Given the description of an element on the screen output the (x, y) to click on. 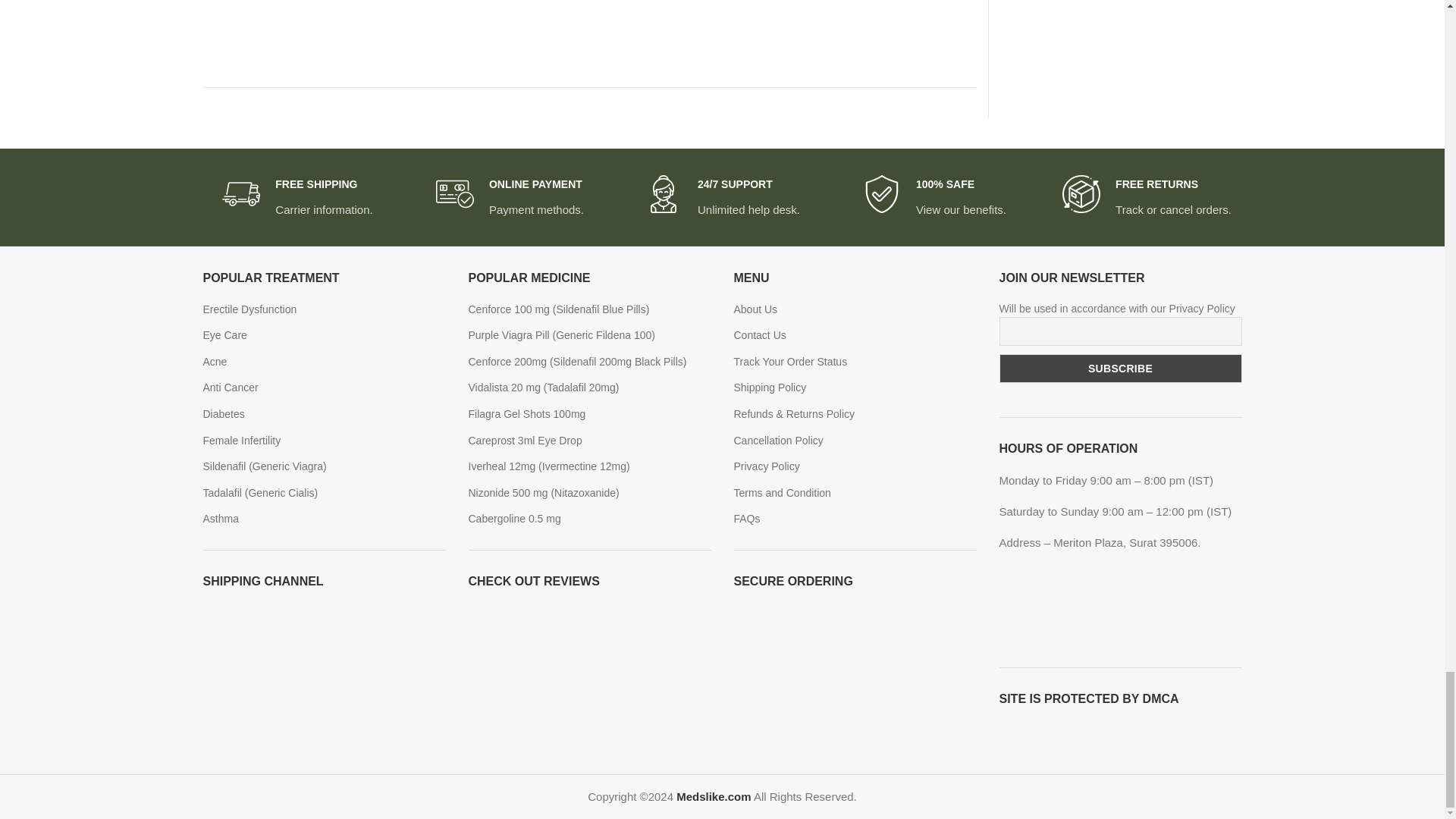
Subscribe (1119, 368)
